Given the description of an element on the screen output the (x, y) to click on. 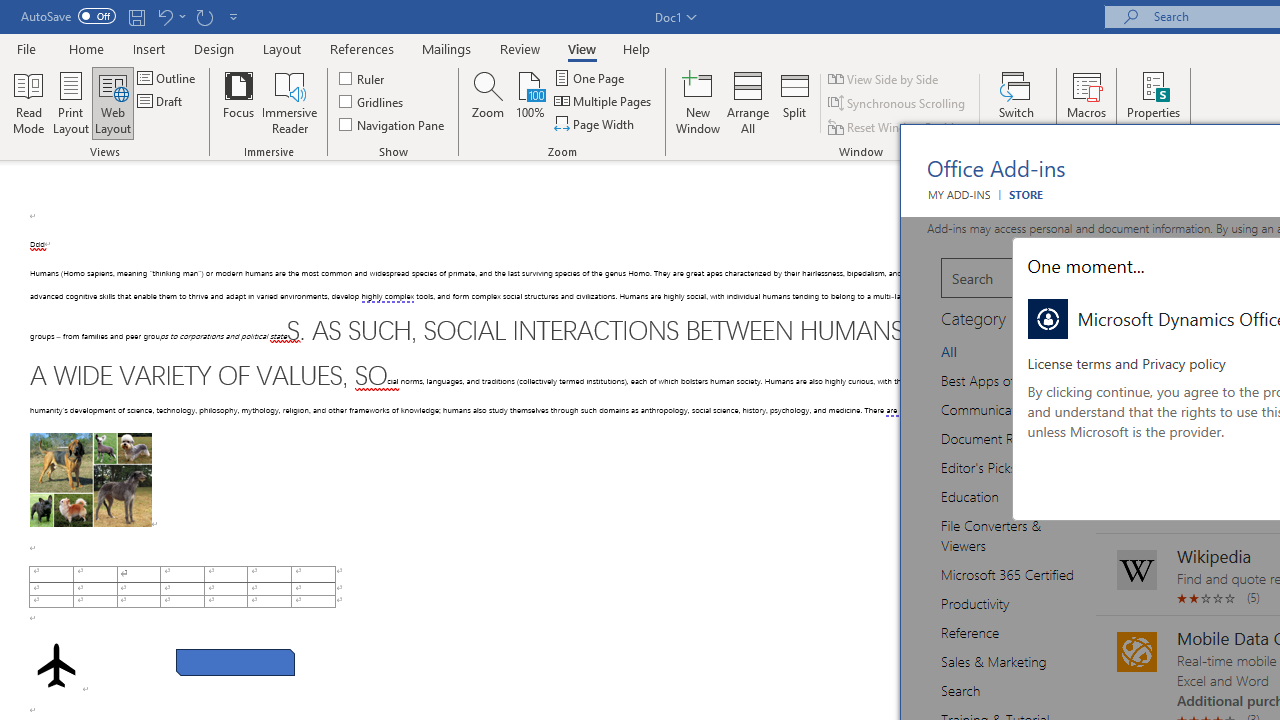
Focus (238, 102)
STORE (1025, 194)
Undo Paragraph Alignment (164, 15)
